Given the description of an element on the screen output the (x, y) to click on. 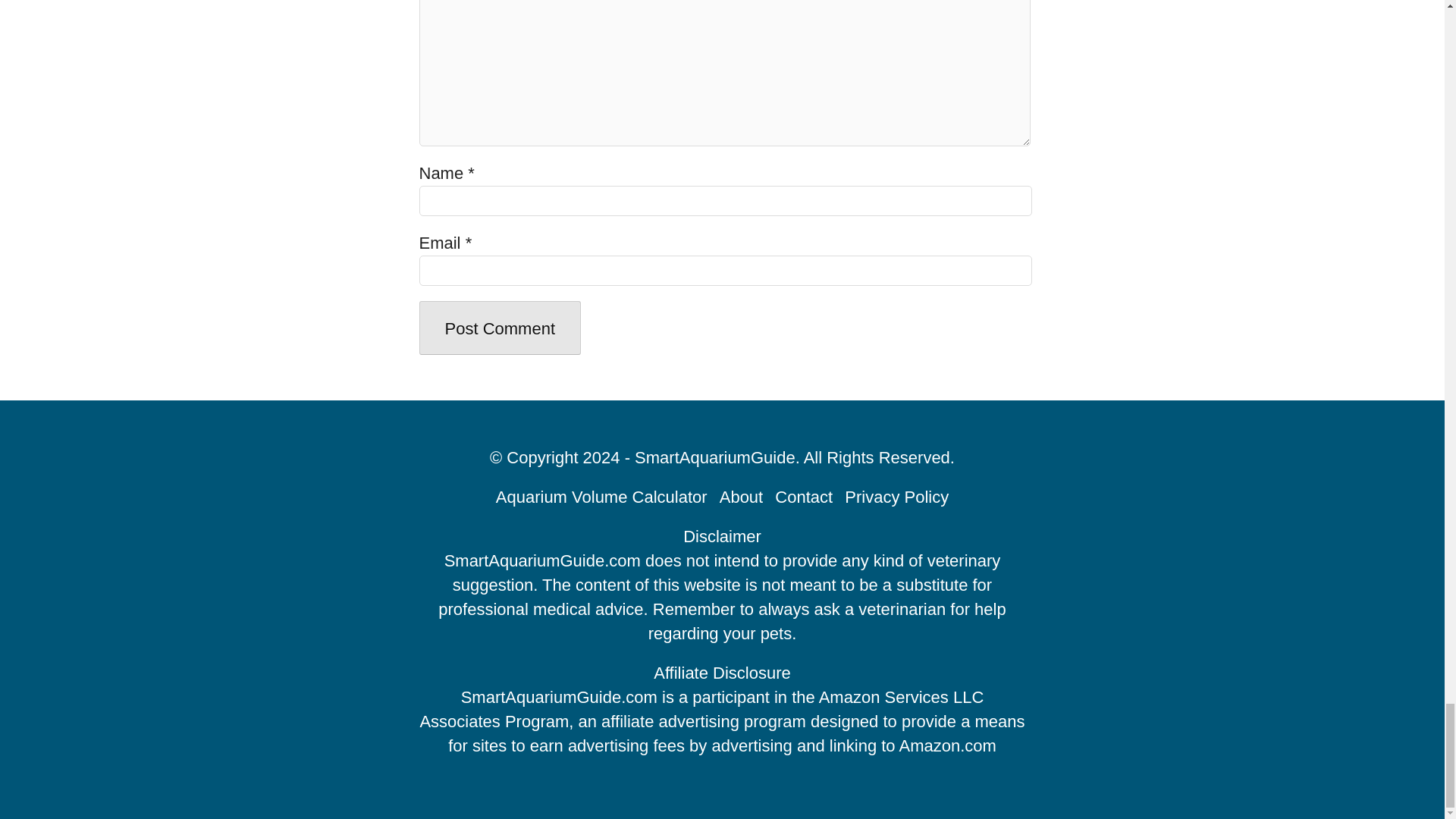
Post Comment (499, 327)
